Given the description of an element on the screen output the (x, y) to click on. 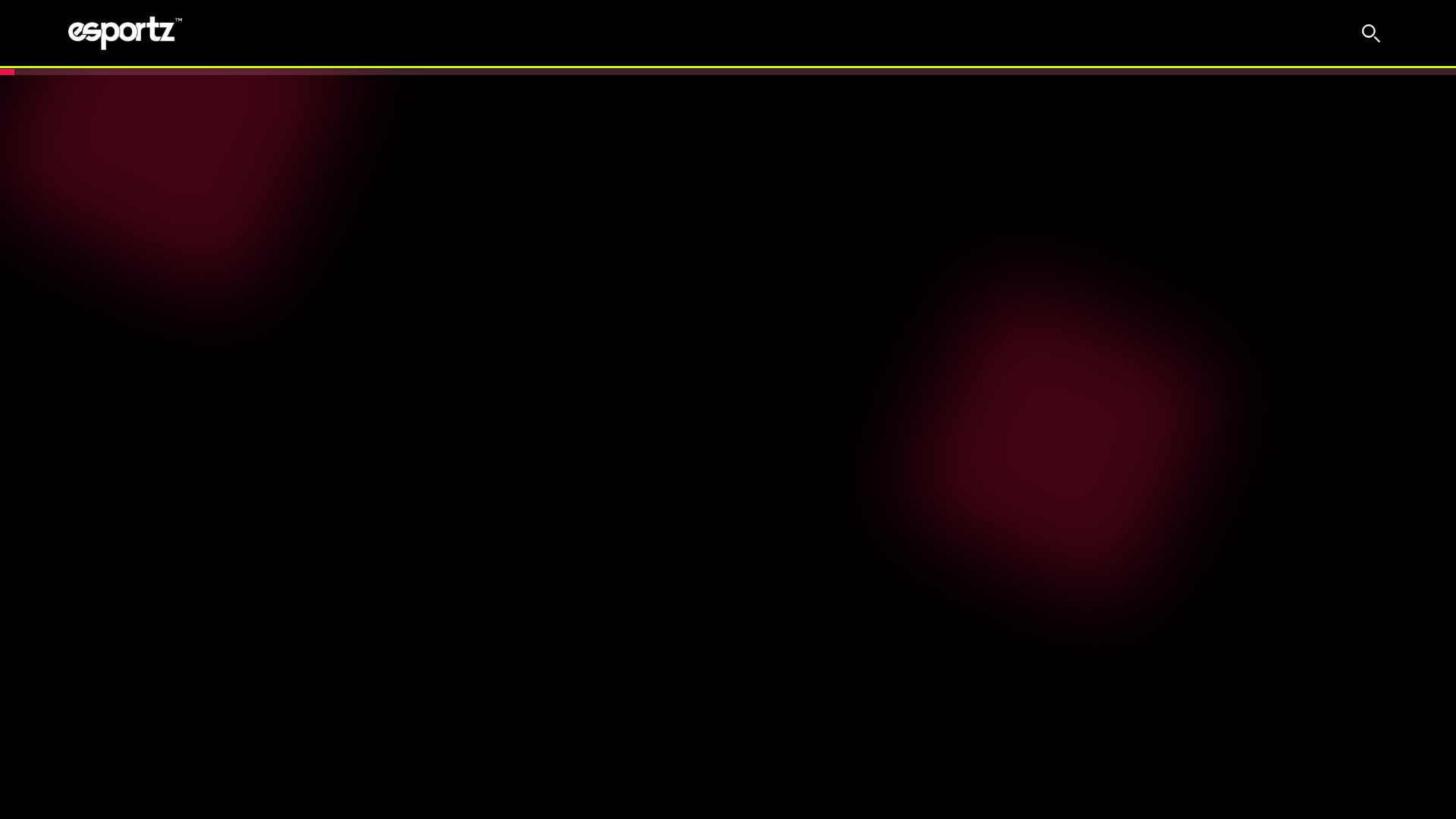
ESPORTZ (125, 33)
Search (1370, 33)
